Given the description of an element on the screen output the (x, y) to click on. 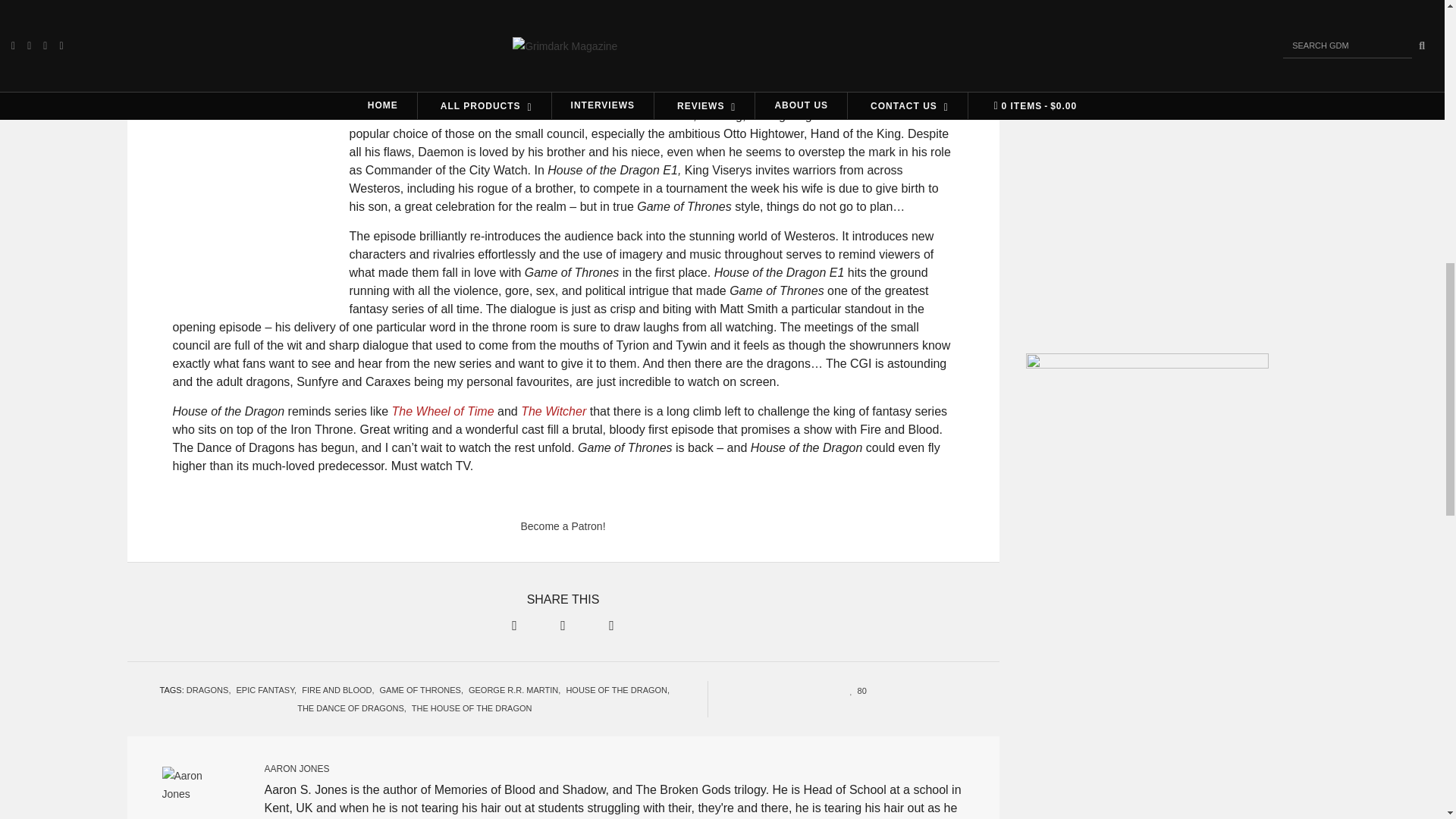
The Wheel of Time (444, 410)
Become a Patron! (562, 526)
The Witcher (555, 410)
Fire and Blood (622, 49)
Like (853, 689)
